Given the description of an element on the screen output the (x, y) to click on. 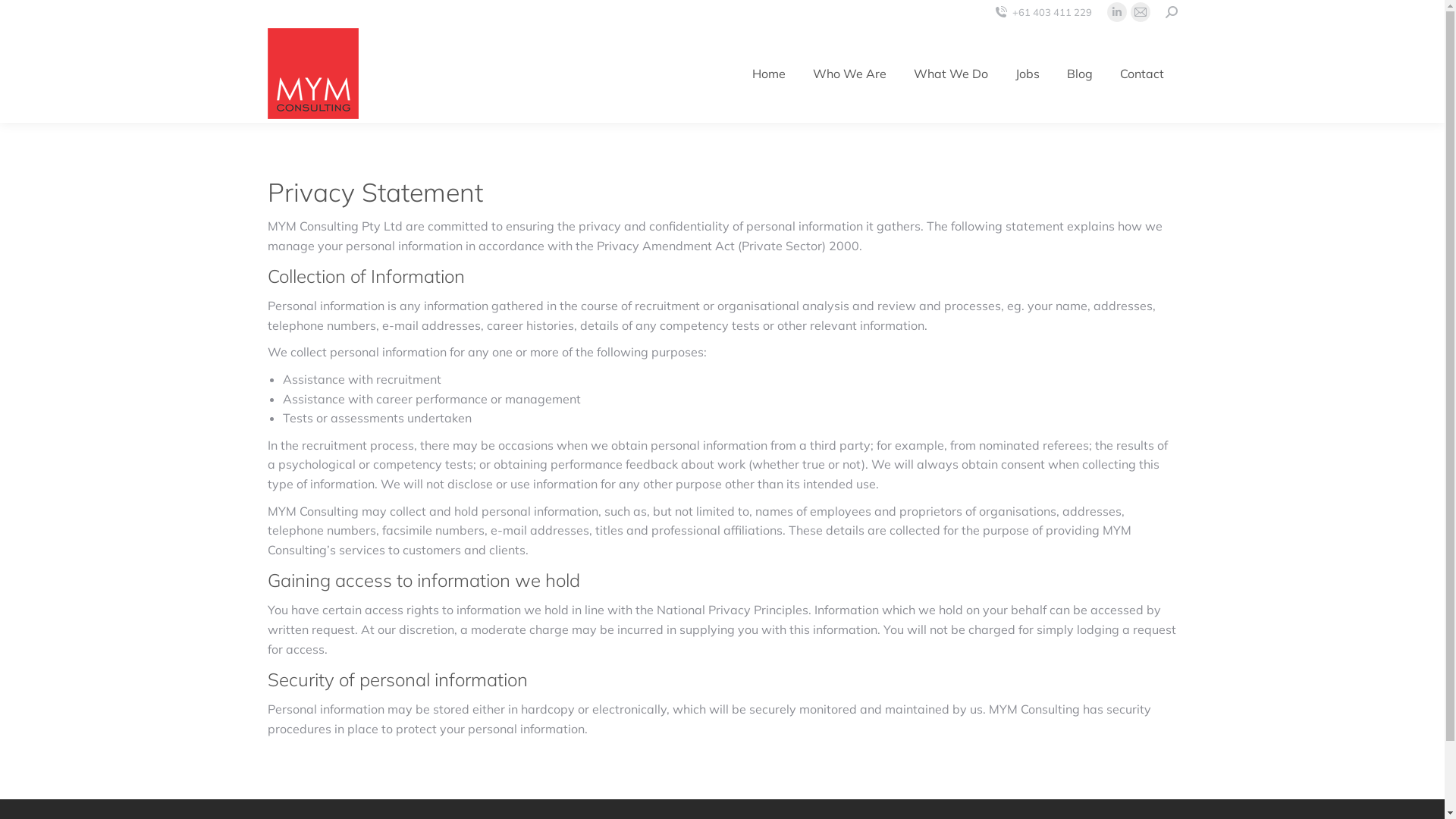
Go! Element type: text (23, 16)
Mail page opens in new window Element type: text (1139, 11)
Contact Element type: text (1141, 73)
Blog Element type: text (1079, 73)
What We Do Element type: text (950, 73)
Home Element type: text (768, 73)
Who We Are Element type: text (849, 73)
Linkedin page opens in new window Element type: text (1116, 11)
Jobs Element type: text (1026, 73)
